Given the description of an element on the screen output the (x, y) to click on. 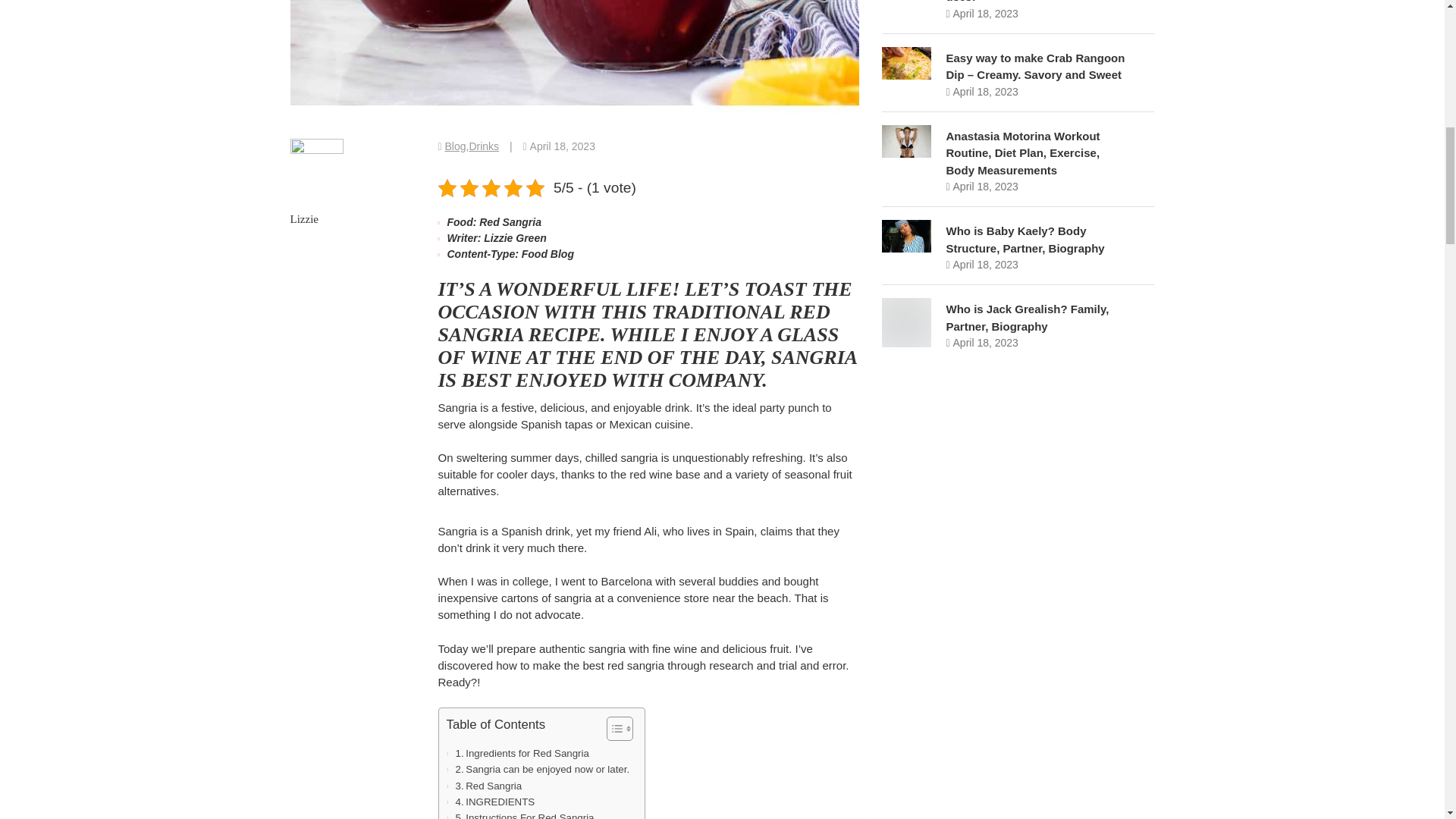
Instructions For Red Sangria (524, 814)
Sangria can be enjoyed now or later. (541, 769)
Instructions For Red Sangria (524, 814)
Drinks (483, 146)
Blog (455, 146)
INGREDIENTS (494, 801)
Red Sangria (487, 785)
INGREDIENTS (494, 801)
Ingredients for Red Sangria (521, 753)
What is Chamoy? Its origin and uses! (1031, 1)
Red Sangria (487, 785)
Posts by Lizzie (303, 218)
Lizzie (303, 218)
Ingredients for Red Sangria (521, 753)
